Given the description of an element on the screen output the (x, y) to click on. 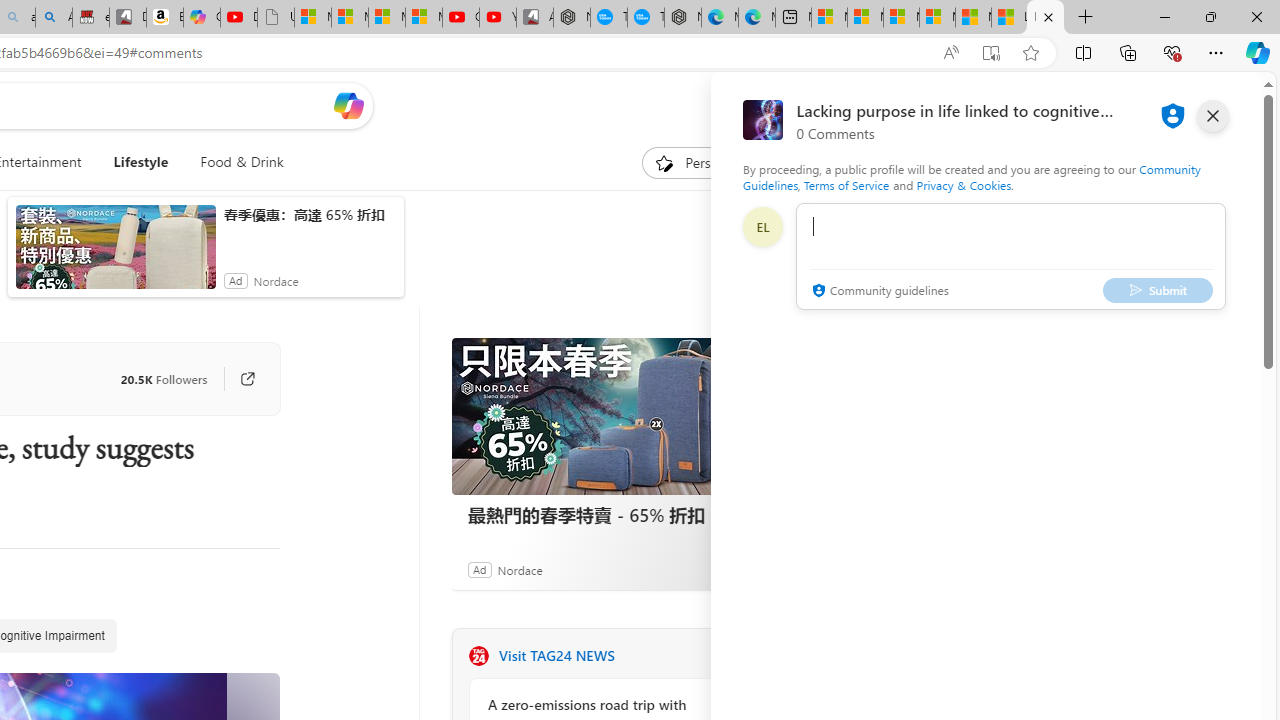
Amazon Echo Dot PNG - Search Images (53, 17)
Food & Drink (241, 162)
